Given the description of an element on the screen output the (x, y) to click on. 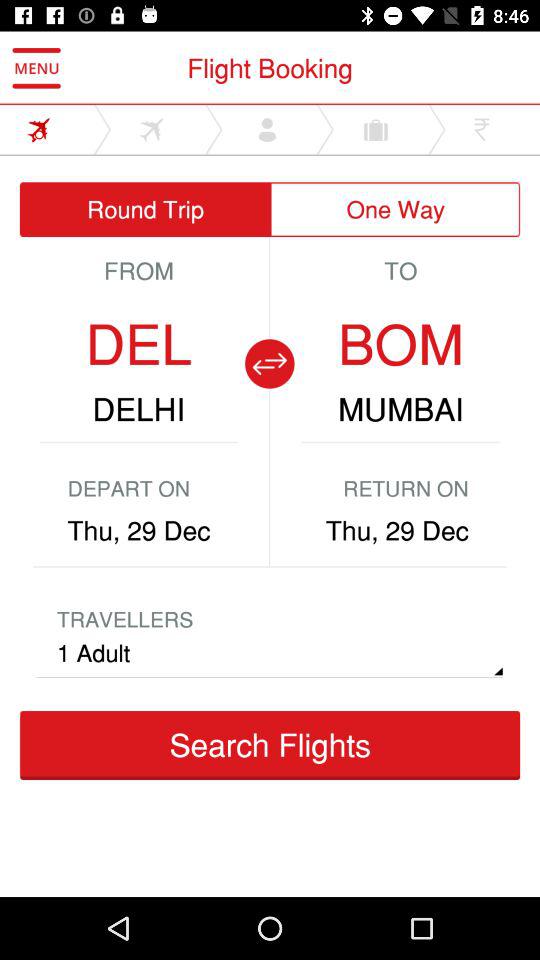
select the item below del item (138, 409)
